Given the description of an element on the screen output the (x, y) to click on. 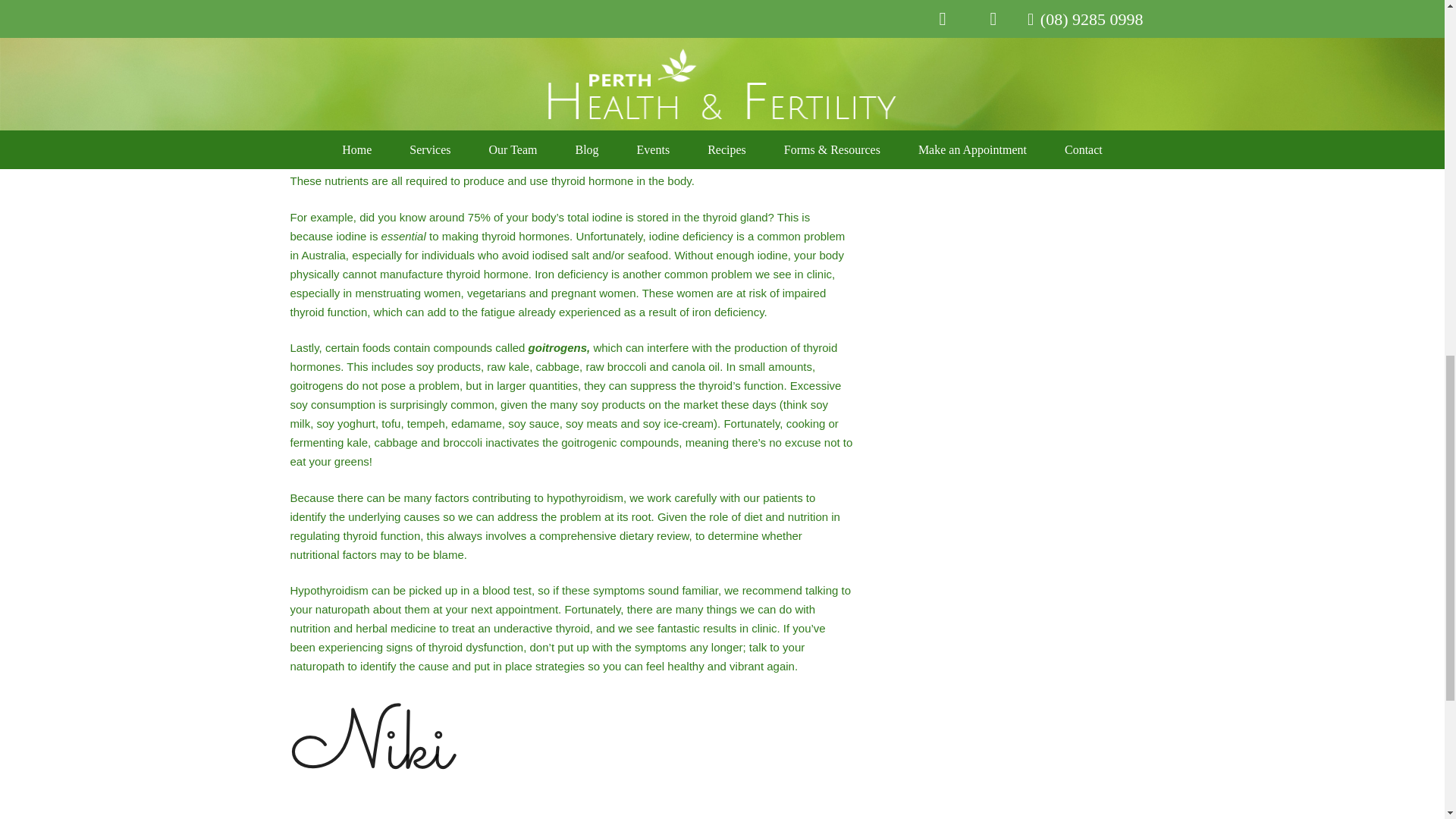
Back to top (1413, 26)
